Given the description of an element on the screen output the (x, y) to click on. 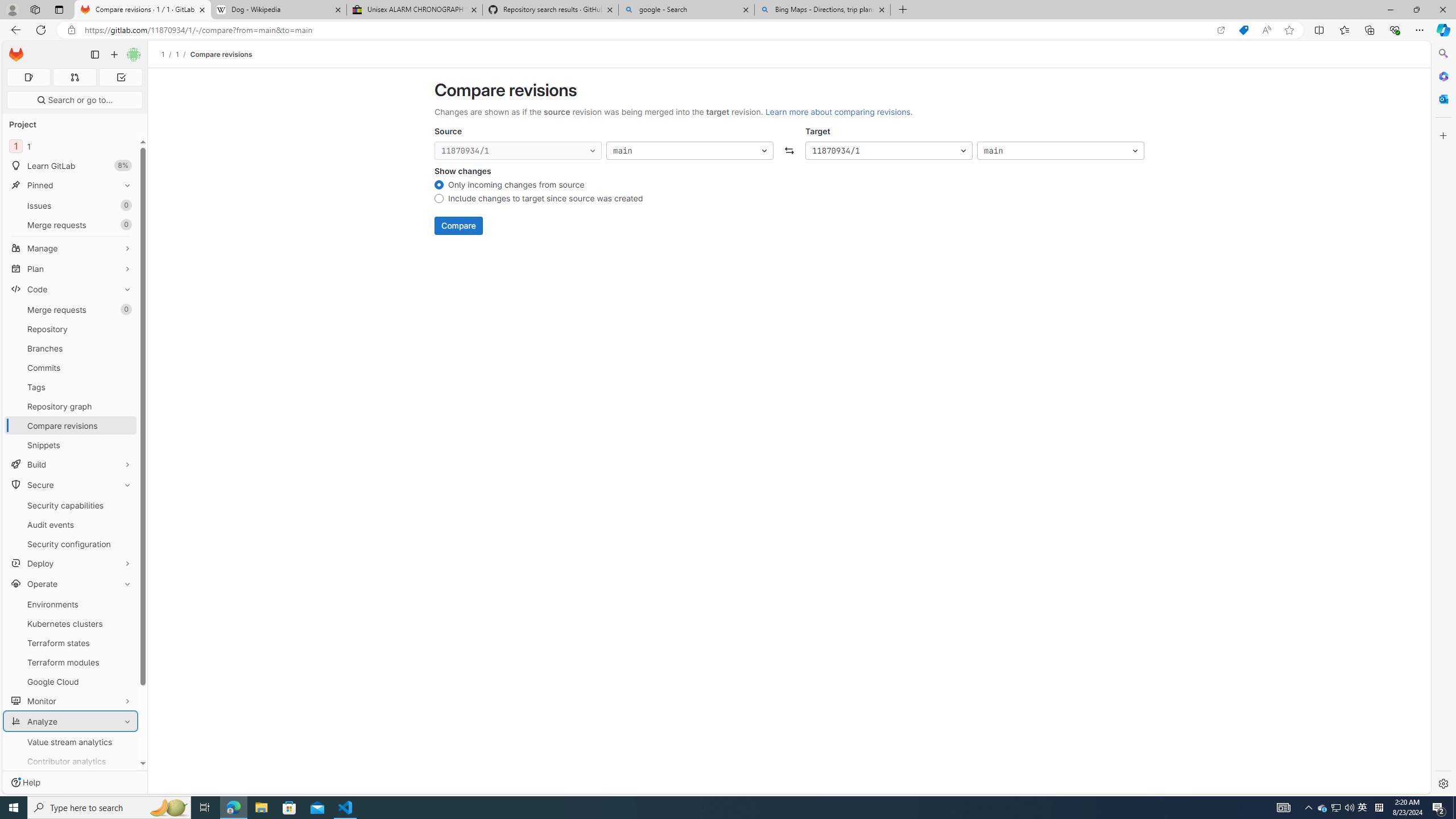
Merge requests 0 (70, 309)
Monitor (70, 700)
Pin Environments (124, 604)
Contributor analytics (70, 760)
Create new... (113, 54)
Terraform modules (70, 661)
Pin Commits (124, 367)
Compare revisions (220, 53)
Compare revisions (220, 53)
Issues 0 (70, 205)
Security configuration (70, 543)
